Given the description of an element on the screen output the (x, y) to click on. 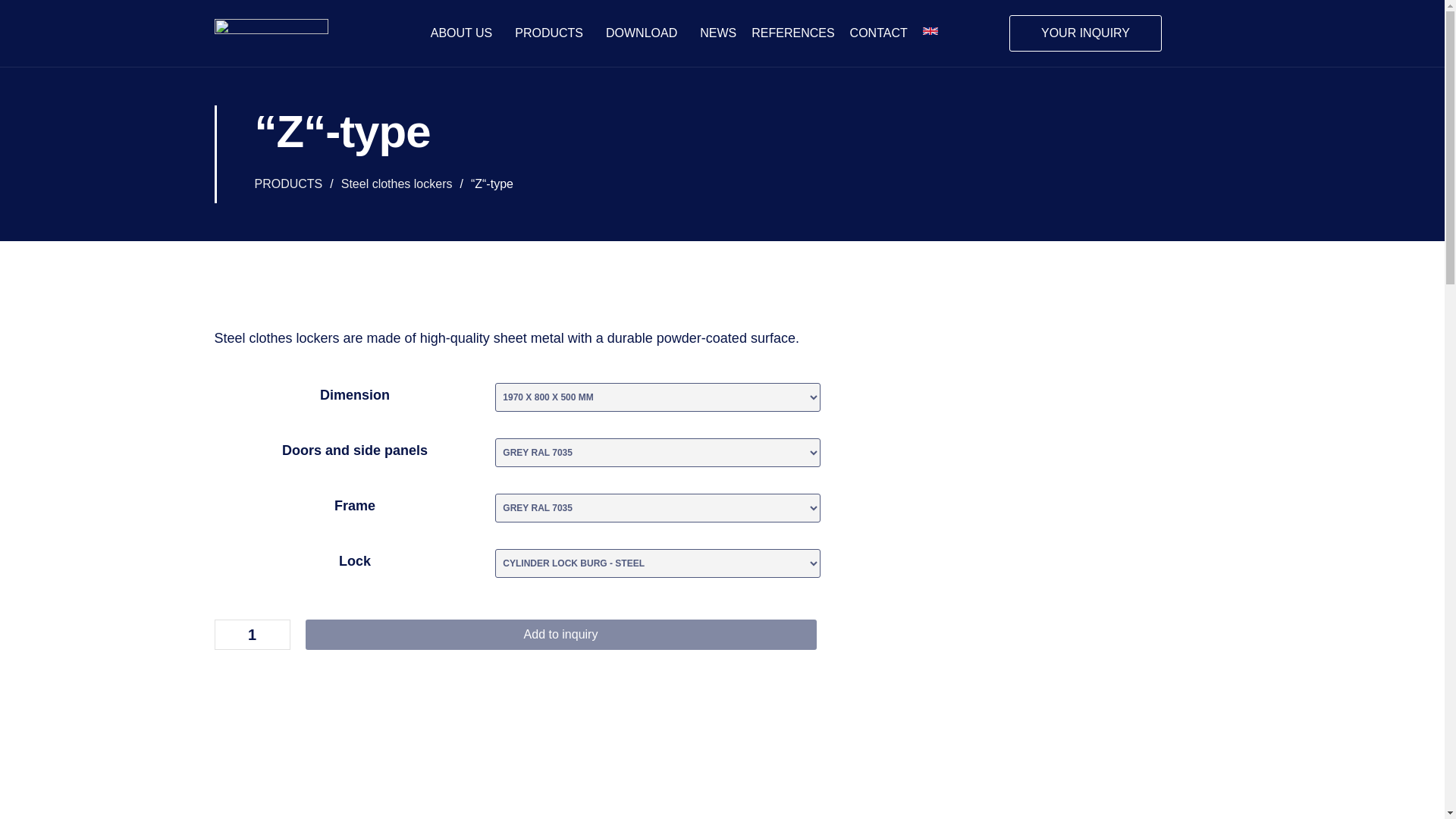
PRODUCTS (288, 183)
PRODUCTS (553, 32)
YOUR INQUIRY (1085, 33)
DOWNLOAD (644, 32)
NEWS (718, 32)
Steel clothes lockers (396, 183)
REFERENCES (792, 32)
1 (251, 634)
CONTACT (878, 32)
ABOUT US (465, 32)
